Given the description of an element on the screen output the (x, y) to click on. 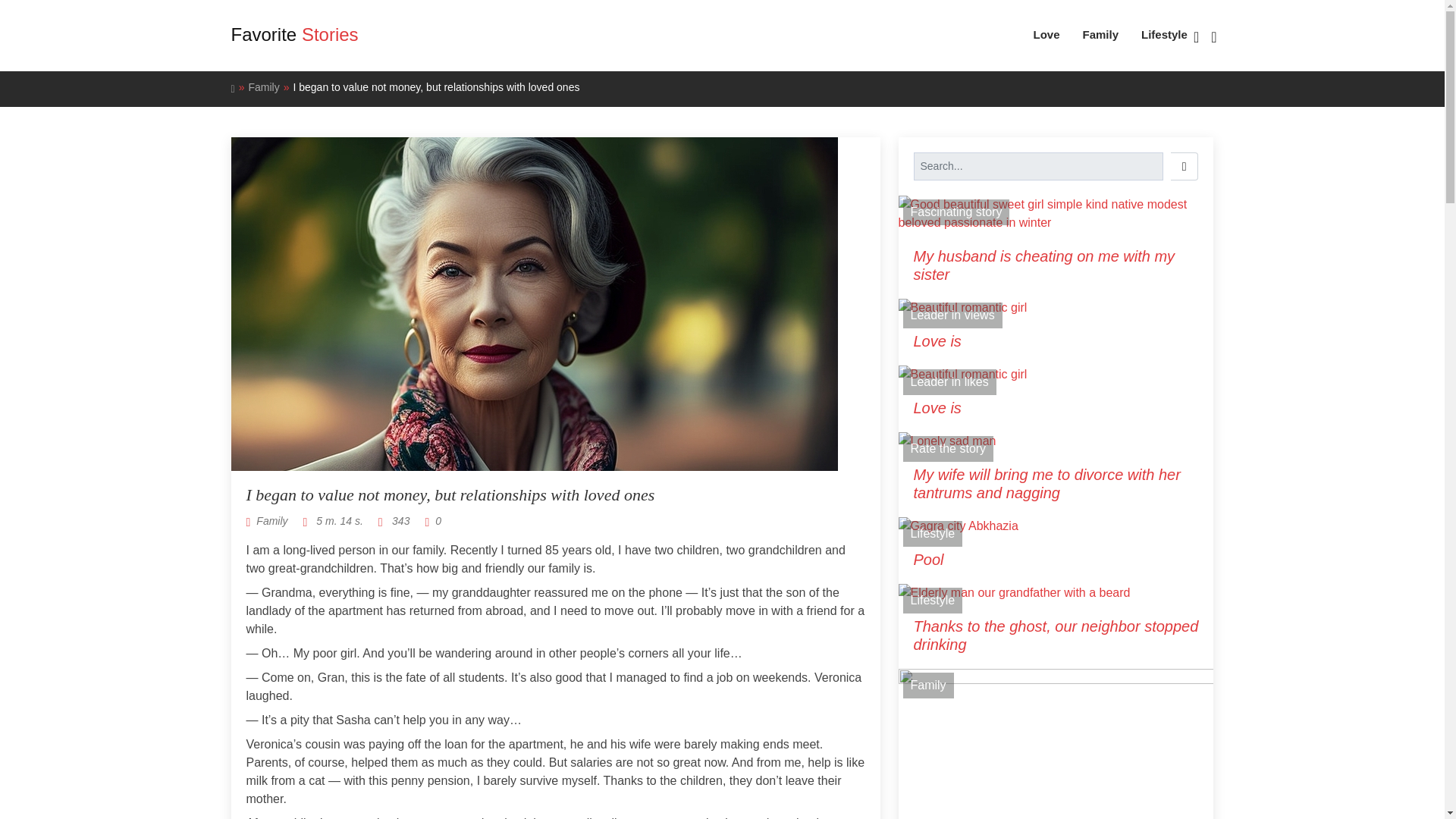
Lifestyle (932, 600)
Love is (1055, 341)
Thanks to the ghost, our neighbor stopped drinking (1055, 635)
Family (271, 520)
Love is (1055, 407)
Pool (1055, 559)
Favorite Stories (294, 34)
My husband is cheating on me with my sister (1055, 265)
Lifestyle (1153, 35)
